Given the description of an element on the screen output the (x, y) to click on. 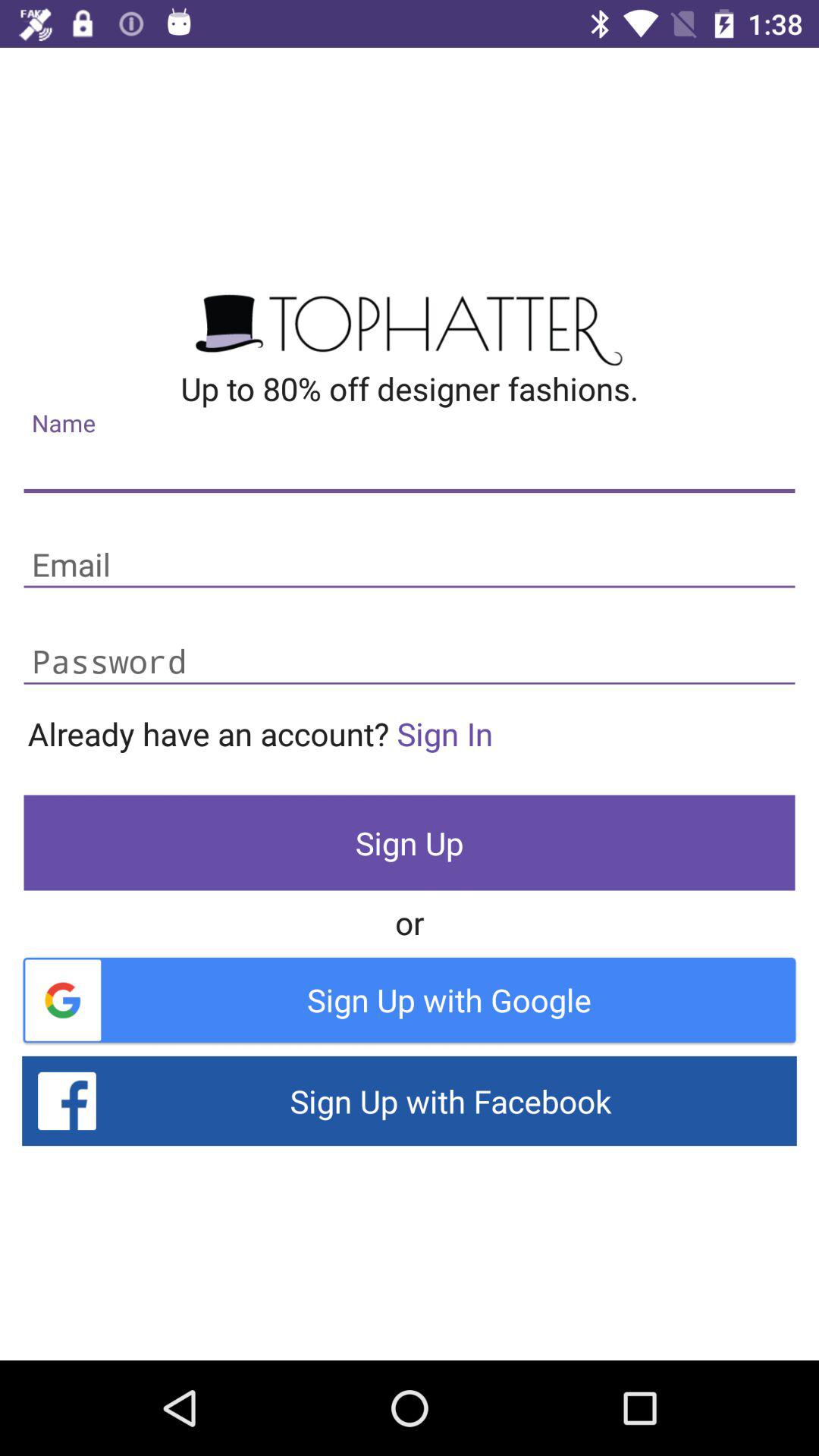
enter your email (409, 565)
